Given the description of an element on the screen output the (x, y) to click on. 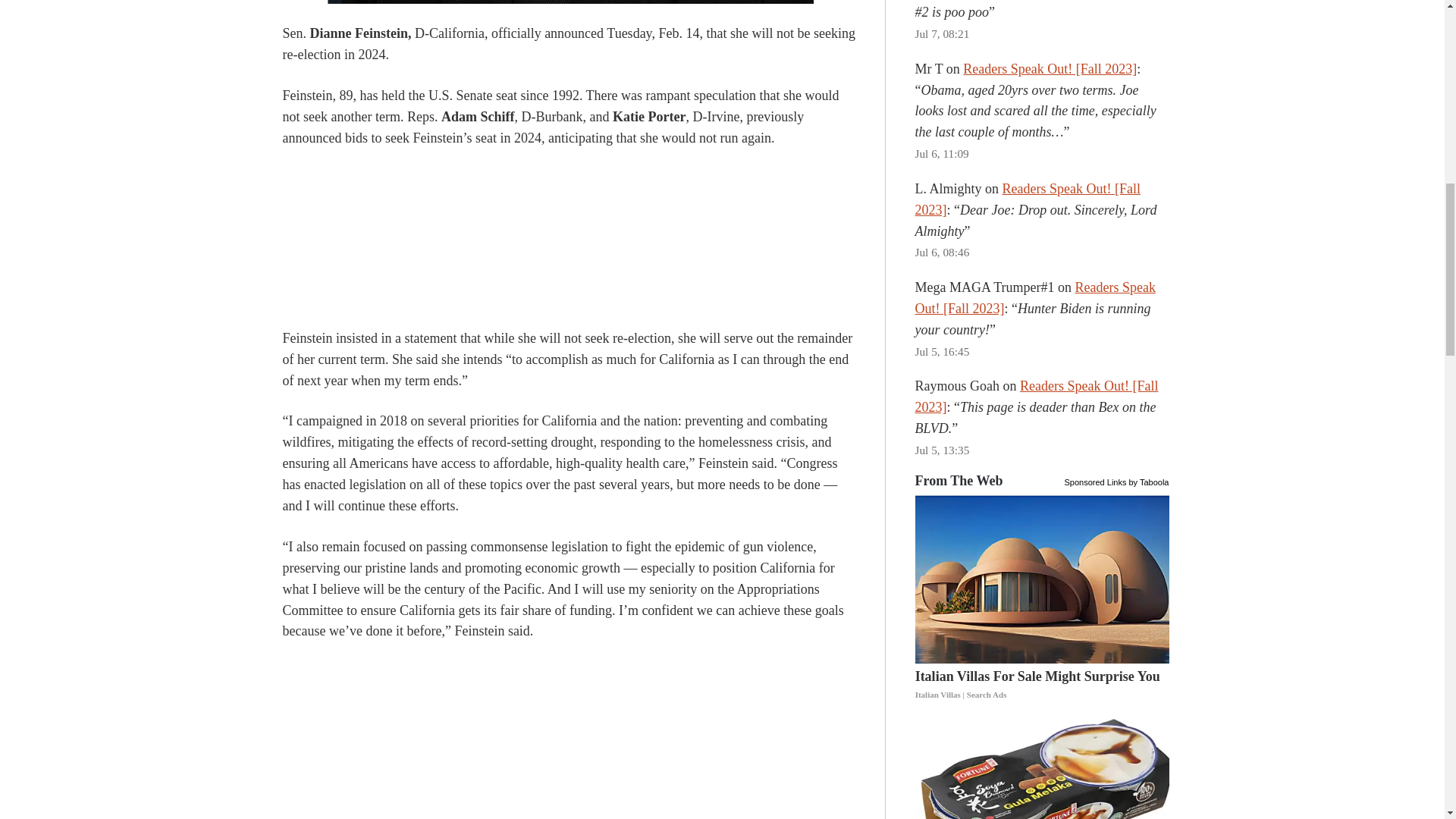
Italian Villas For Sale Might Surprise You (1042, 685)
Advertisement (569, 733)
Advertisement (569, 240)
